Given the description of an element on the screen output the (x, y) to click on. 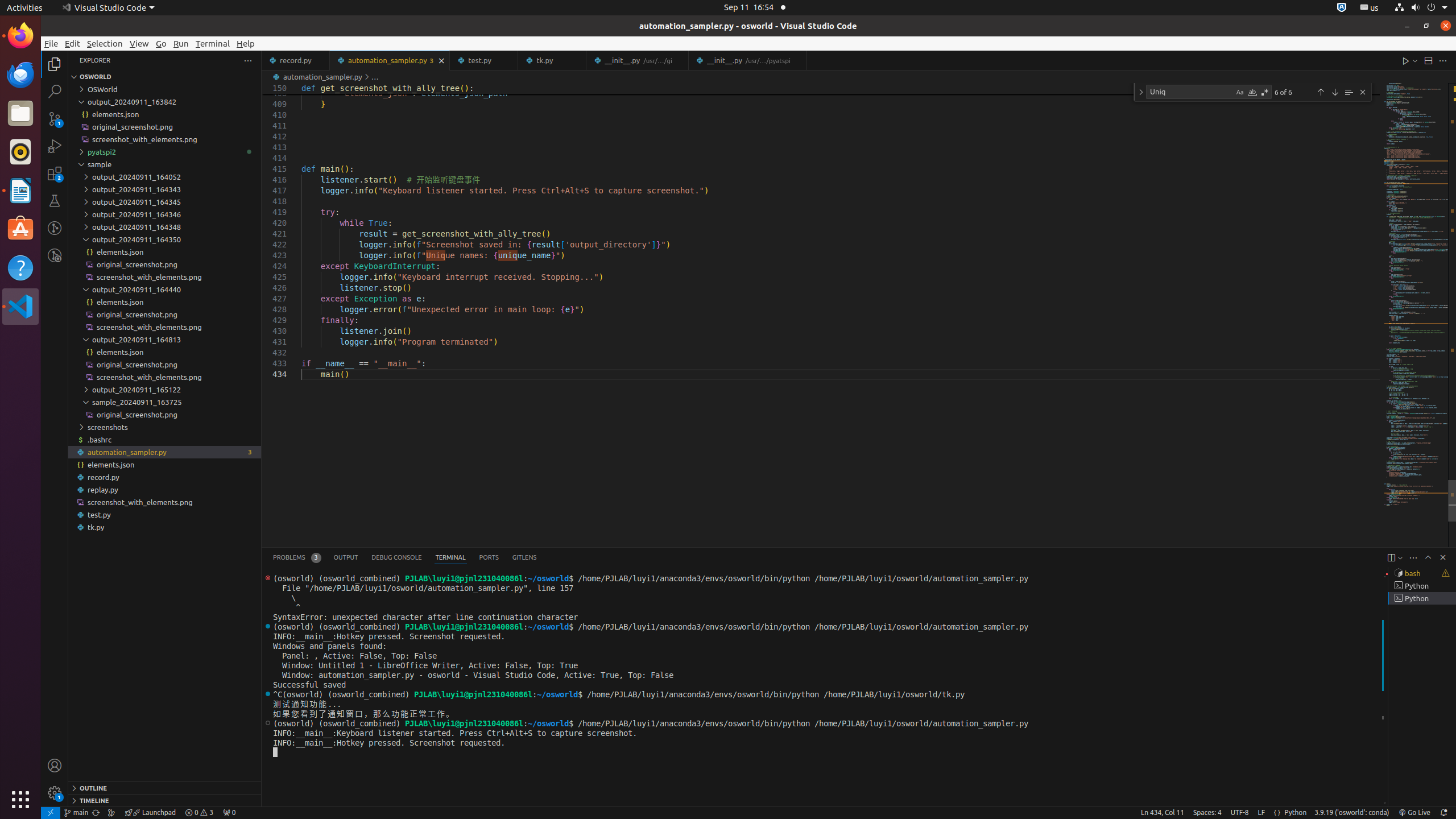
No Ports Forwarded Element type: push-button (228, 812)
Accounts Element type: push-button (54, 765)
Ln 434, Col 11 Element type: push-button (1162, 812)
automation_sampler.py Element type: tree-item (164, 451)
